Given the description of an element on the screen output the (x, y) to click on. 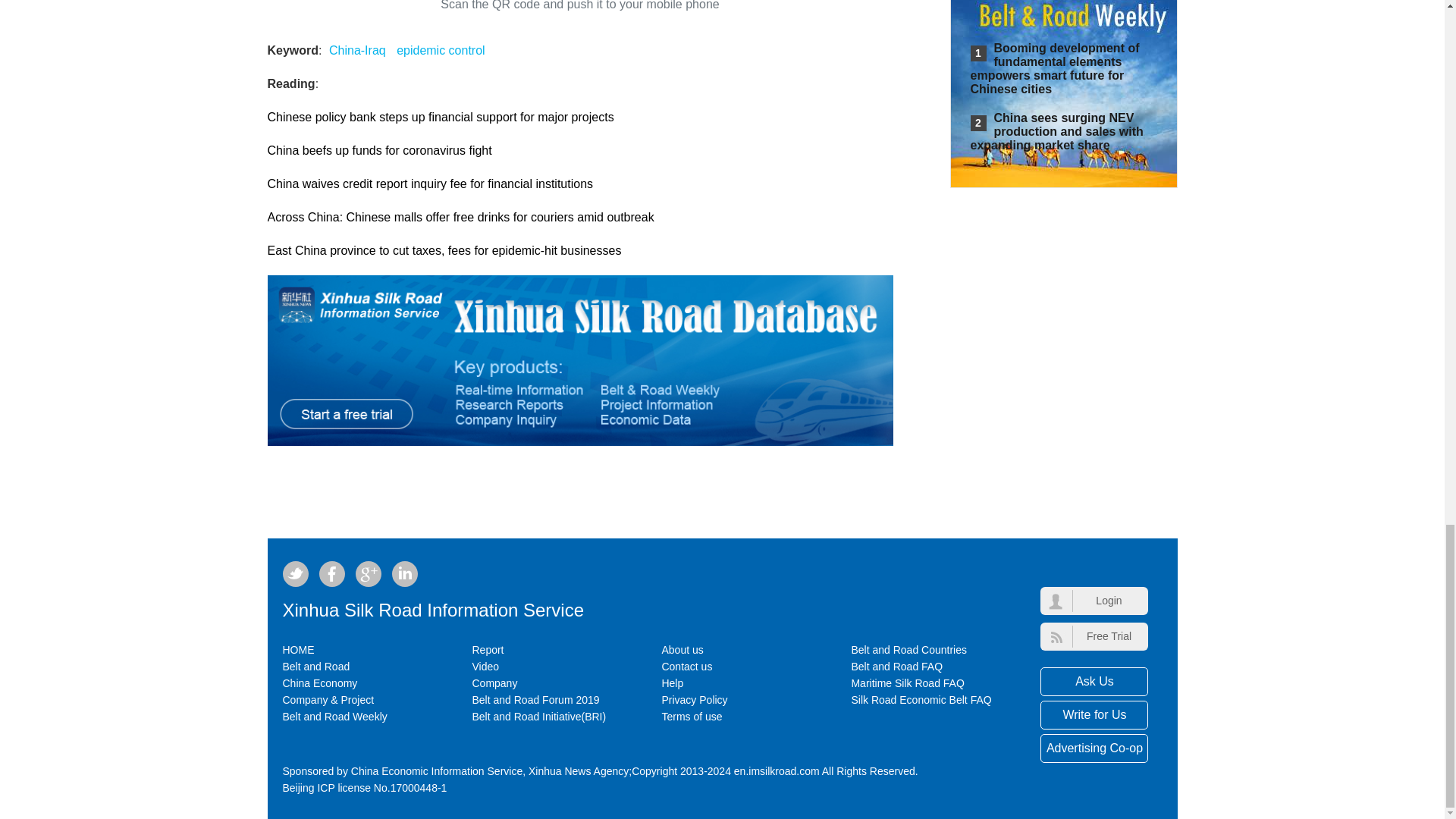
China beefs up funds for coronavirus fight  (379, 150)
